Given the description of an element on the screen output the (x, y) to click on. 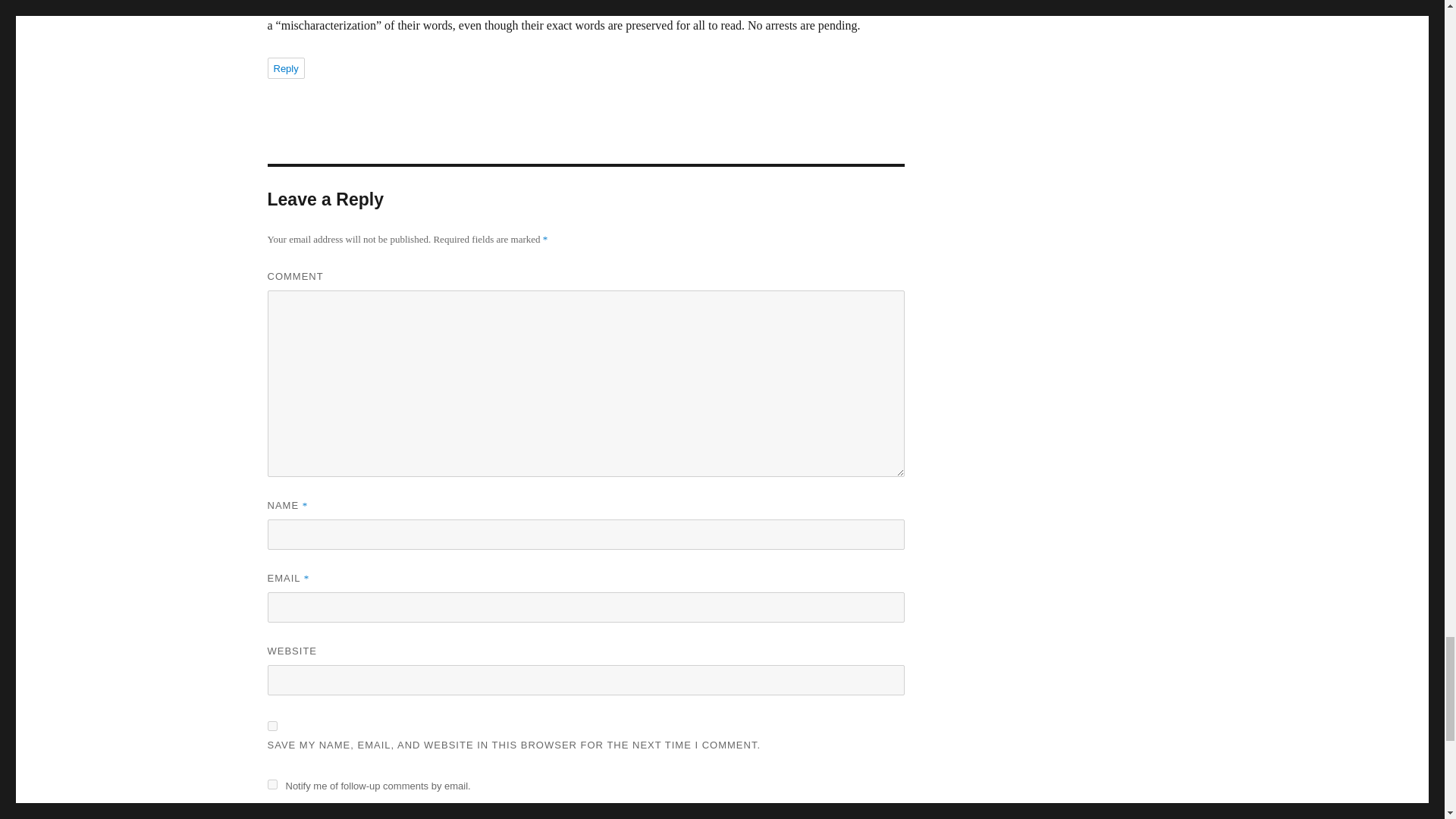
yes (271, 726)
subscribe (271, 816)
subscribe (271, 784)
